Given the description of an element on the screen output the (x, y) to click on. 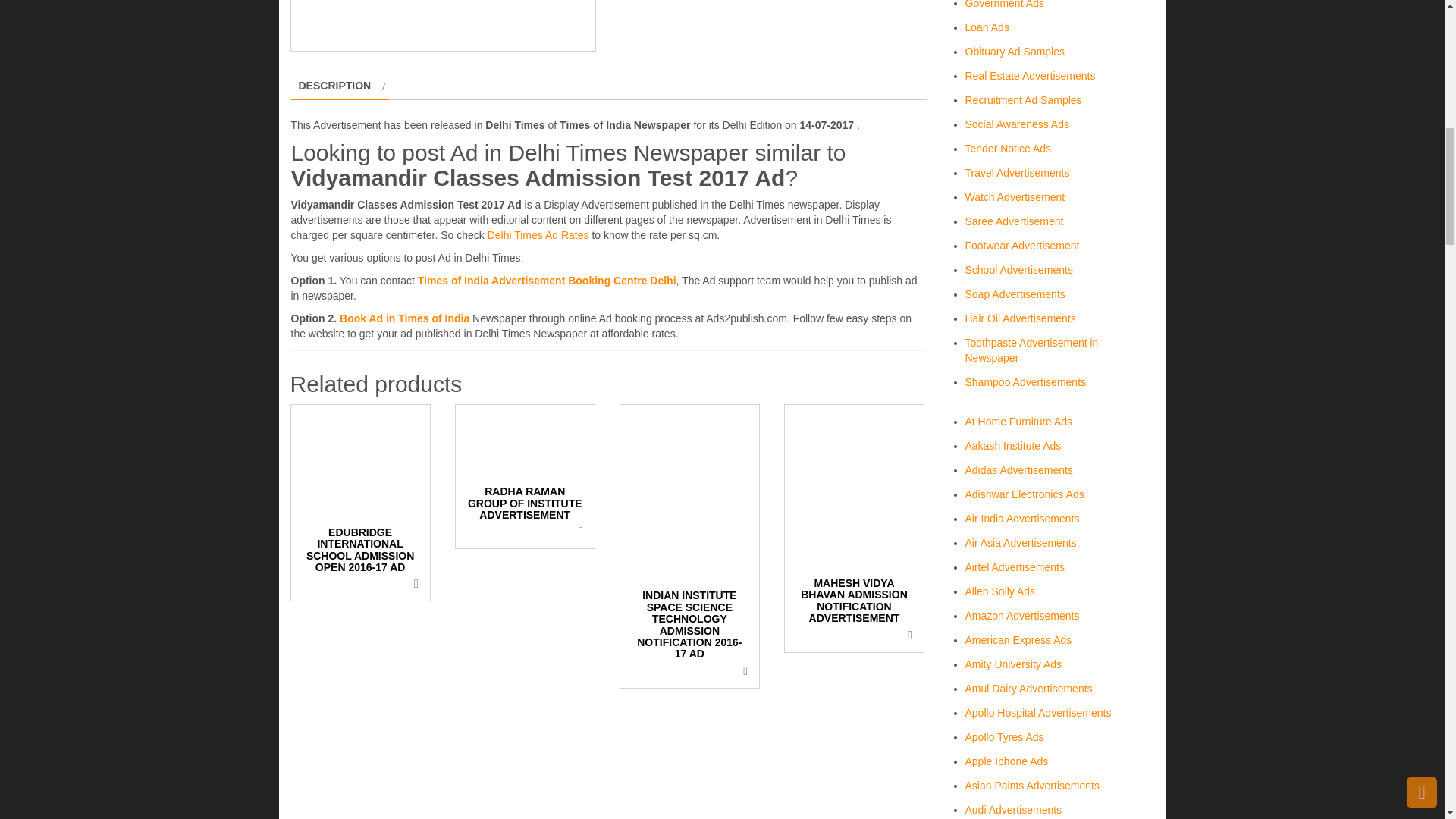
Book Ad in Times of India (403, 318)
Times of India Advertisement Booking Centre Delhi (547, 280)
DESCRIPTION (334, 86)
RADHA RAMAN GROUP OF INSTITUTE ADVERTISEMENT (524, 468)
Delhi Times Ad Rates (538, 234)
